Given the description of an element on the screen output the (x, y) to click on. 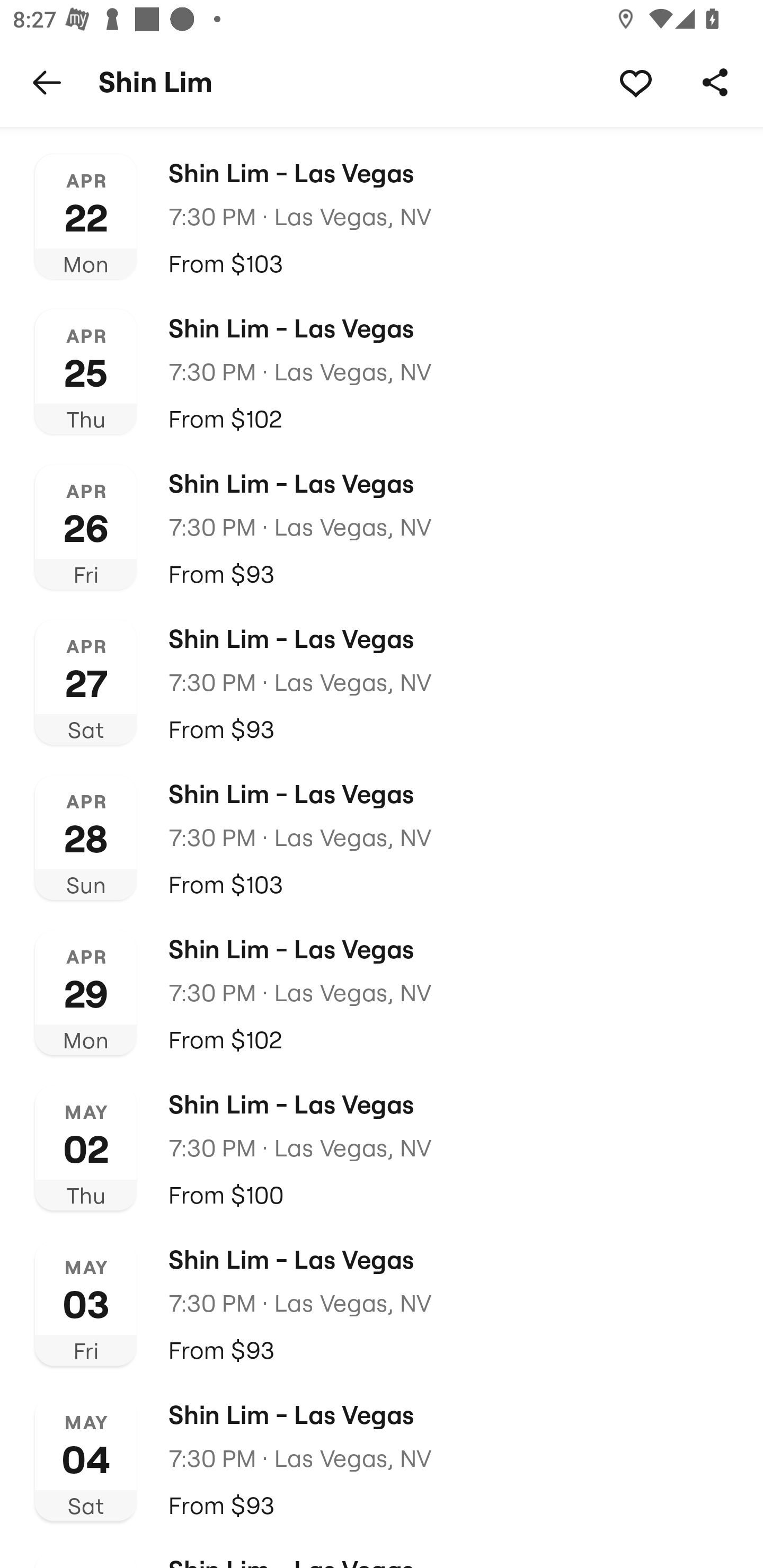
Back (47, 81)
Track this performer (635, 81)
Share this performer (715, 81)
